Given the description of an element on the screen output the (x, y) to click on. 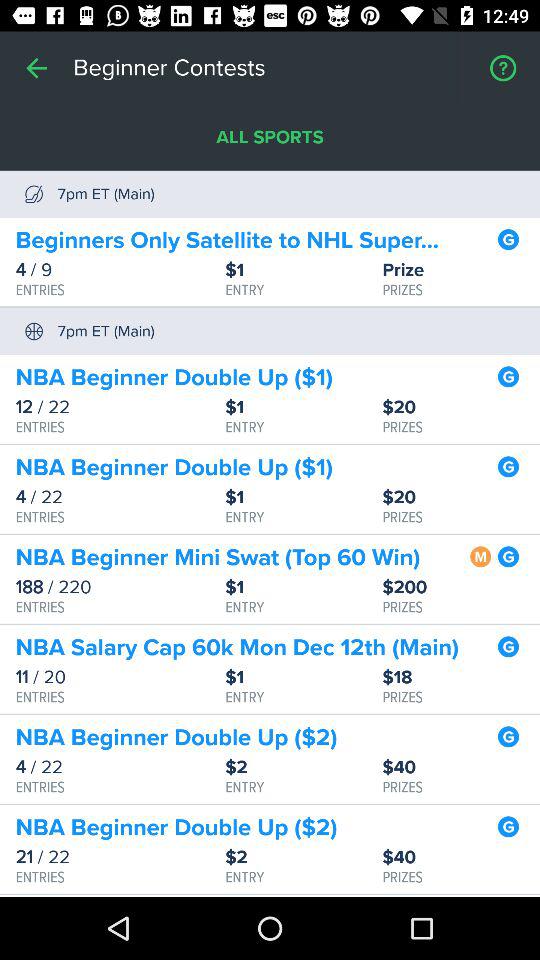
turn off all sports icon (269, 137)
